Given the description of an element on the screen output the (x, y) to click on. 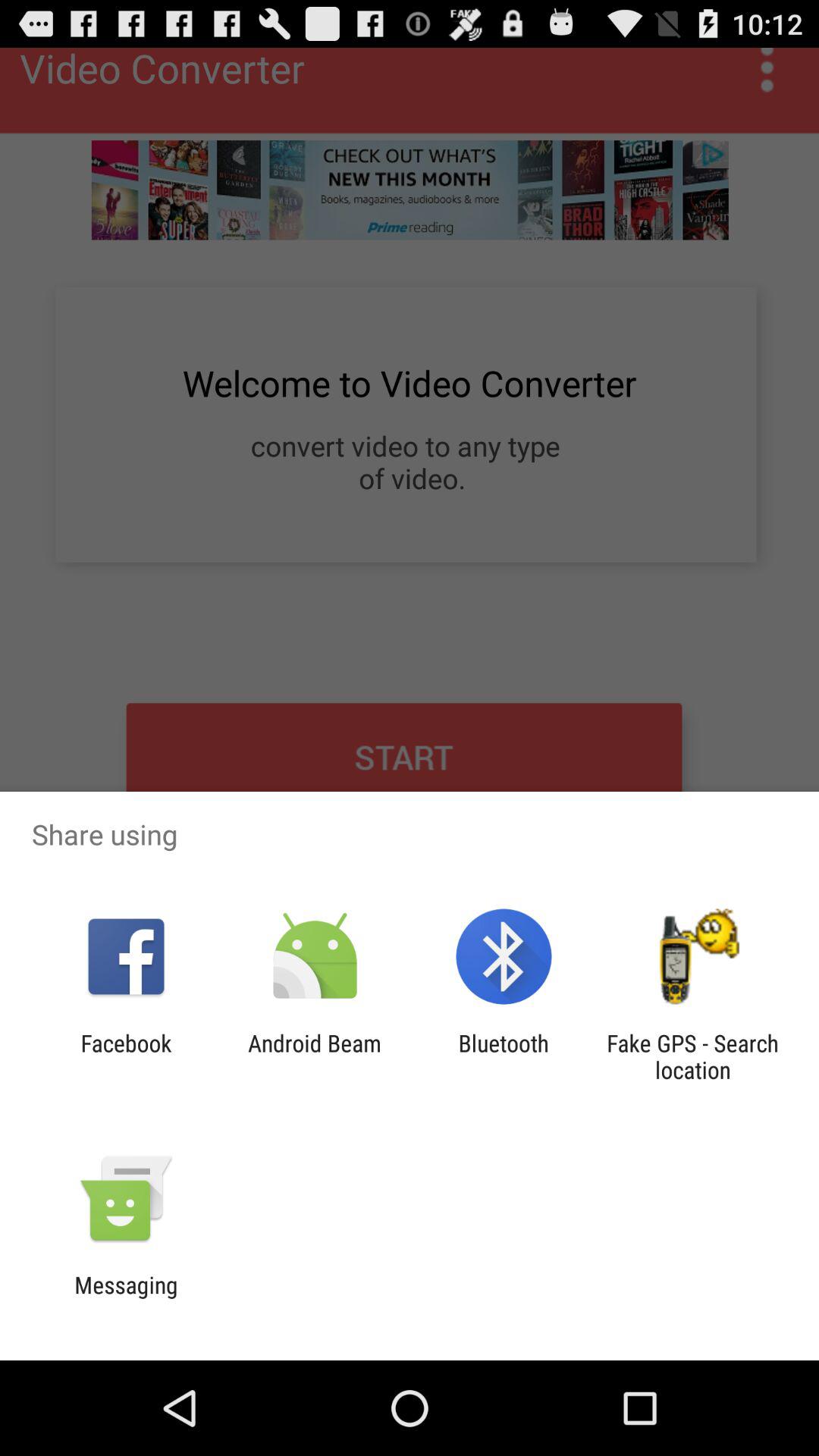
launch item next to the fake gps search app (503, 1056)
